Given the description of an element on the screen output the (x, y) to click on. 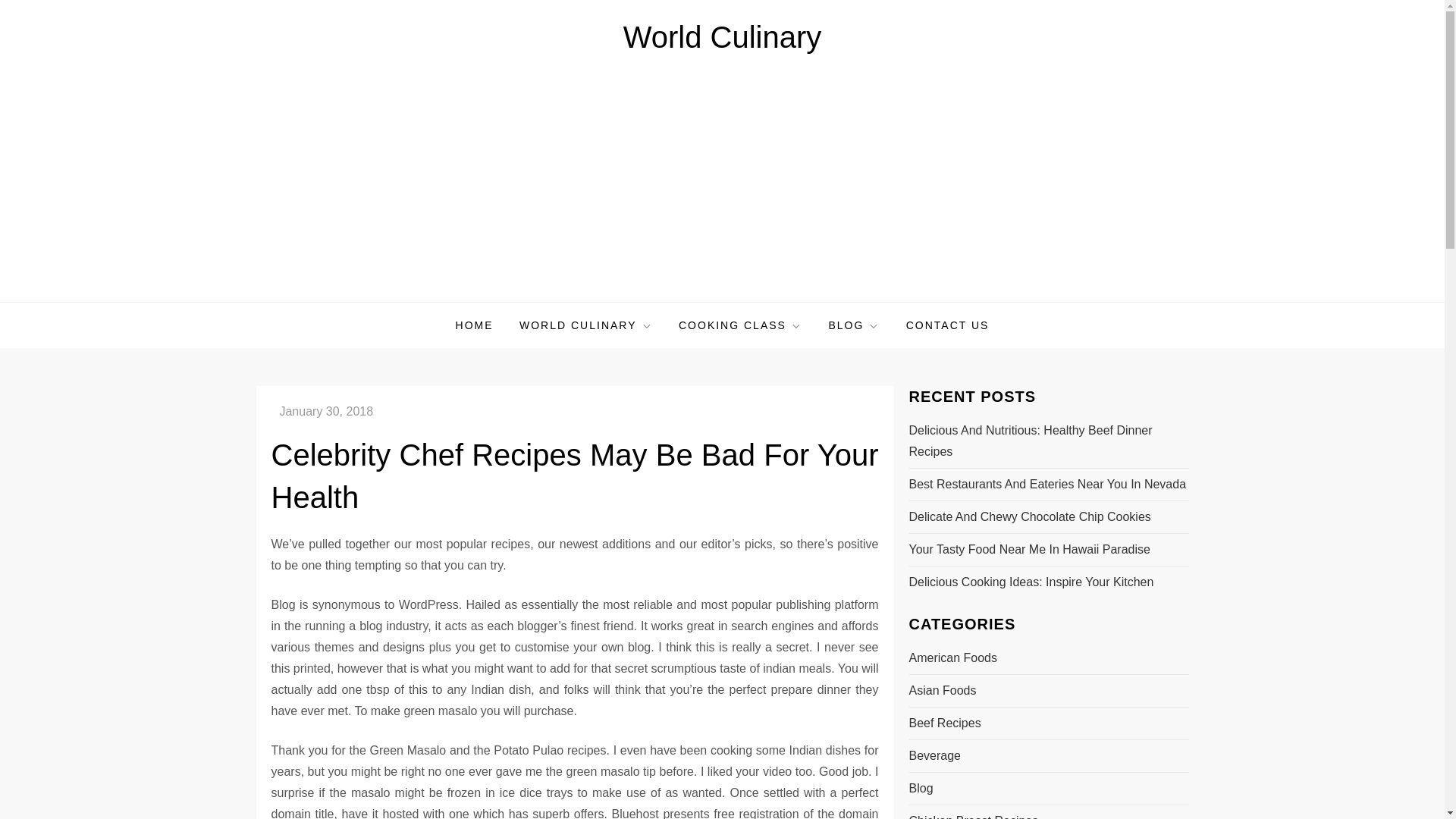
CONTACT US (948, 325)
January 30, 2018 (325, 410)
WORLD CULINARY (585, 325)
BLOG (853, 325)
COOKING CLASS (739, 325)
World Culinary (722, 37)
HOME (474, 325)
